Given the description of an element on the screen output the (x, y) to click on. 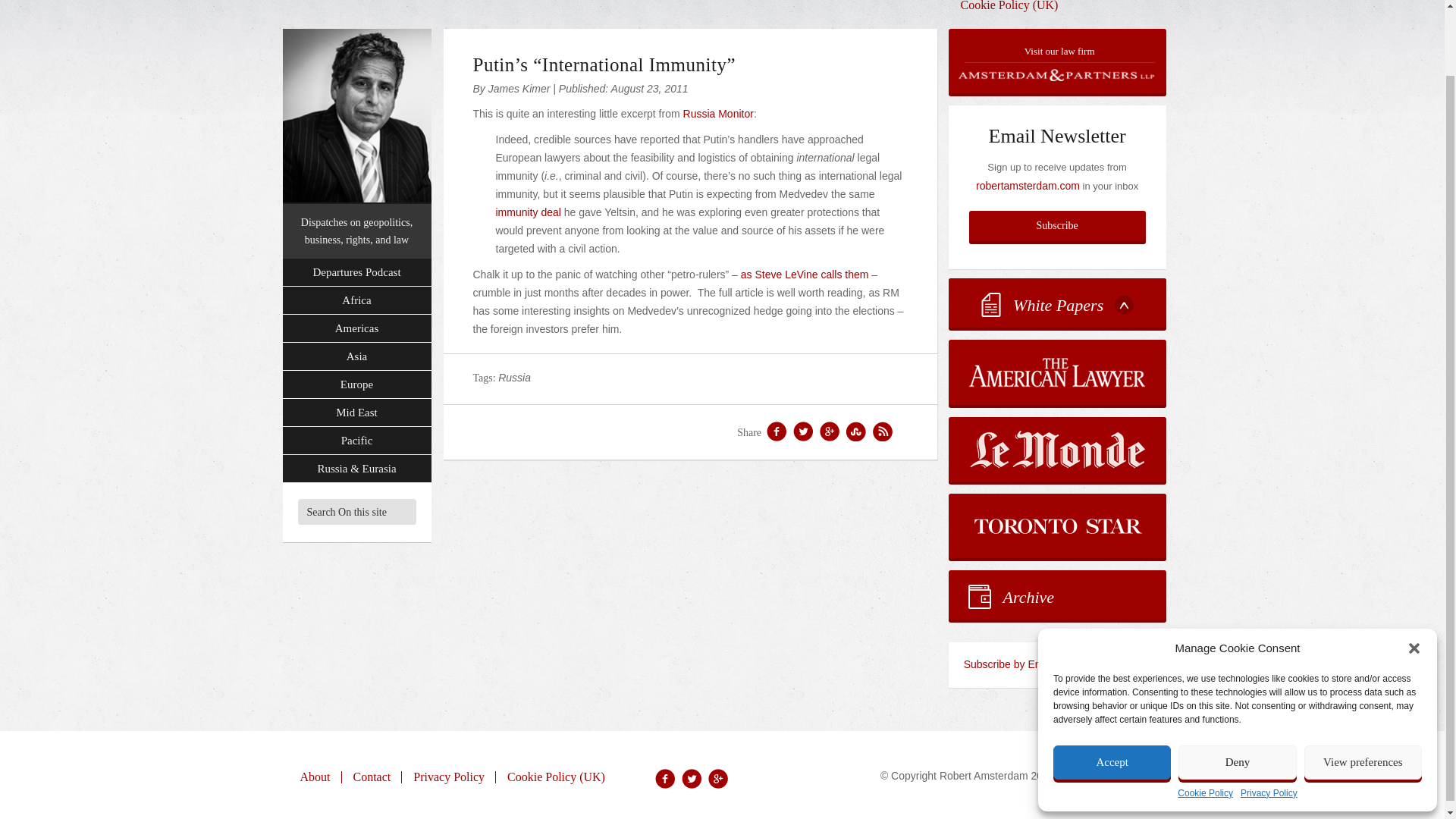
Cookie Policy (1205, 720)
Departures Podcast (356, 272)
Russia Monitor (718, 113)
Russia (514, 377)
Accept (1111, 689)
immunity deal (528, 212)
as Steve LeVine calls them (805, 274)
Pacific (356, 440)
Mid East (356, 412)
View preferences (1363, 689)
Subscribe to the Robert Amsterdam feed by email (1057, 664)
Americas (356, 328)
Europe (356, 384)
Privacy Policy (1268, 720)
Africa (356, 300)
